Given the description of an element on the screen output the (x, y) to click on. 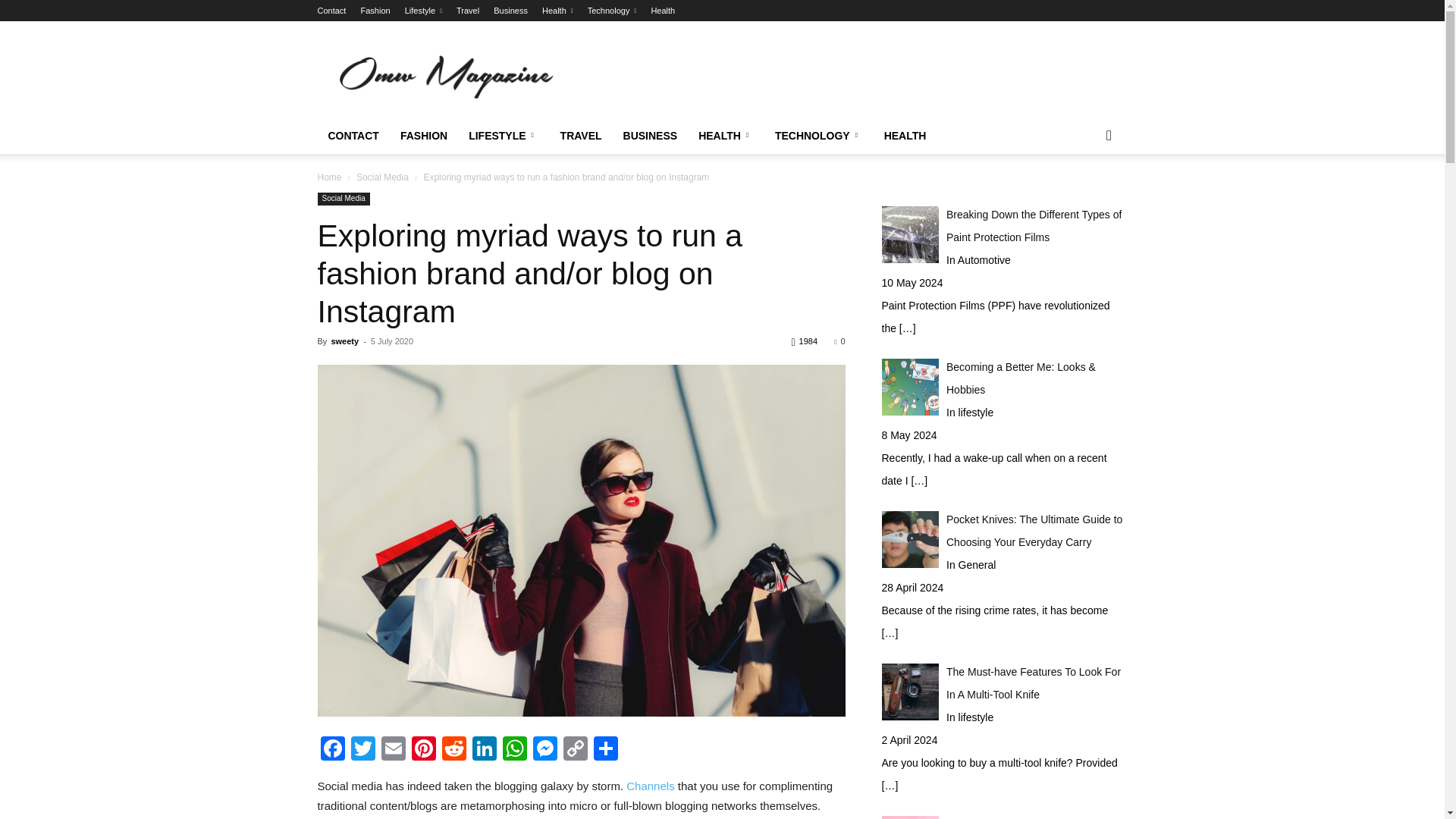
BUSINESS (650, 135)
Technology (612, 10)
Twitter (362, 750)
Reddit (453, 750)
Travel (468, 10)
TRAVEL (581, 135)
Copy Link (574, 750)
LinkedIn (483, 750)
Contact (331, 10)
TECHNOLOGY (818, 135)
Health (557, 10)
WhatsApp (514, 750)
Business (510, 10)
HEALTH (905, 135)
Messenger (544, 750)
